Given the description of an element on the screen output the (x, y) to click on. 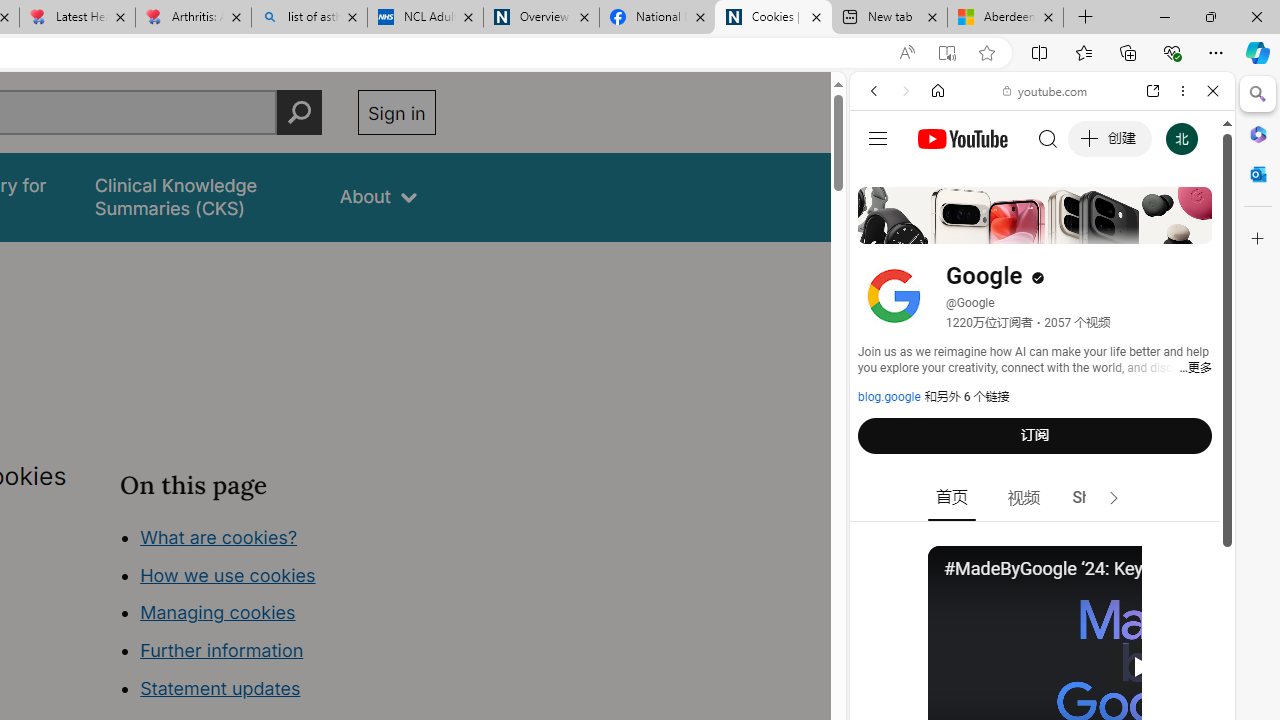
Search Filter, WEB (882, 228)
Show More Music (1164, 546)
Arthritis: Ask Health Professionals (192, 17)
Global web icon (888, 288)
Cookies | About | NICE (772, 17)
Search Filter, IMAGES (939, 228)
#you (1042, 445)
More options (1182, 91)
WEB   (882, 228)
Home (938, 91)
